Given the description of an element on the screen output the (x, y) to click on. 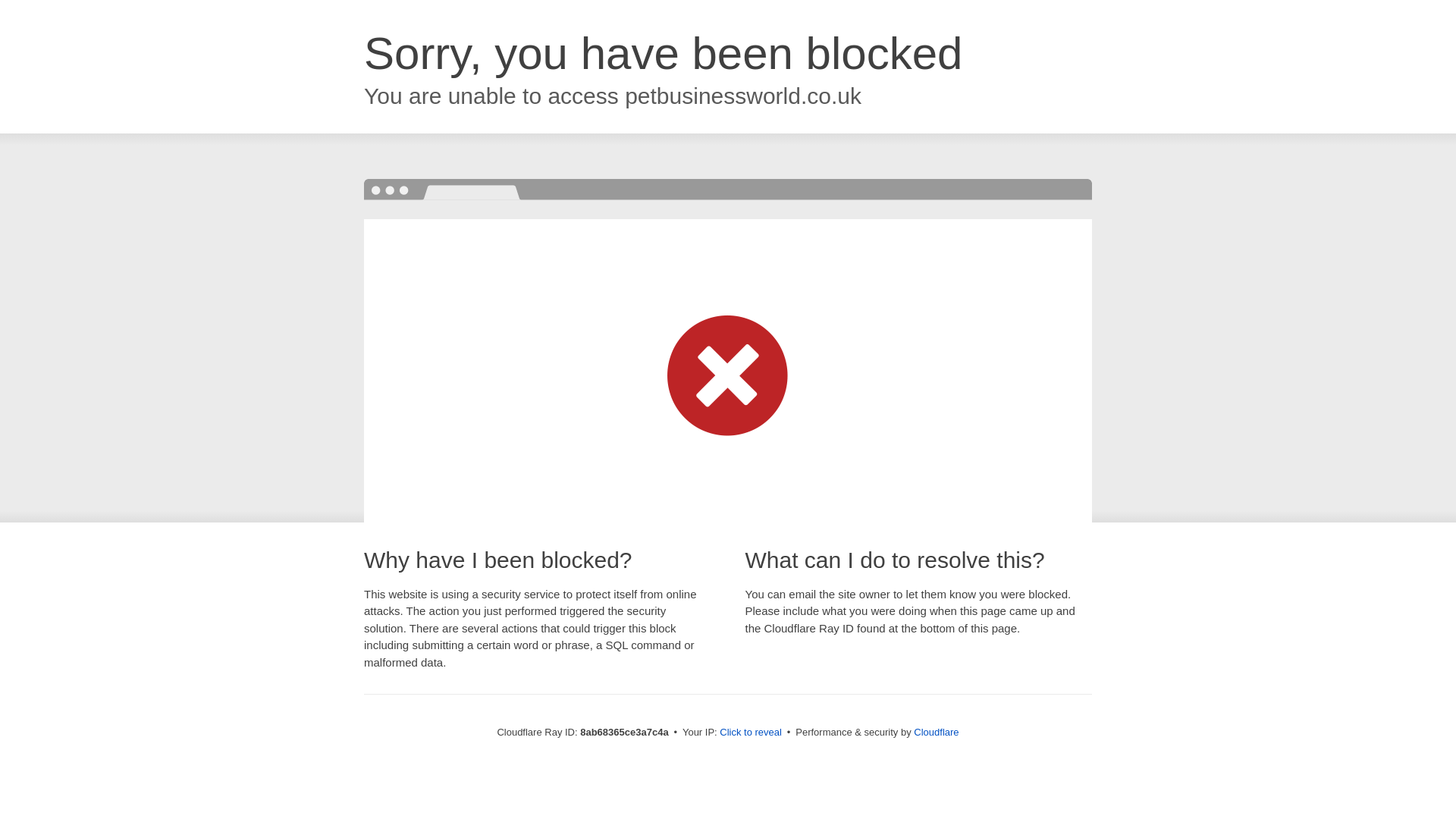
Cloudflare (936, 731)
Click to reveal (750, 732)
